Given the description of an element on the screen output the (x, y) to click on. 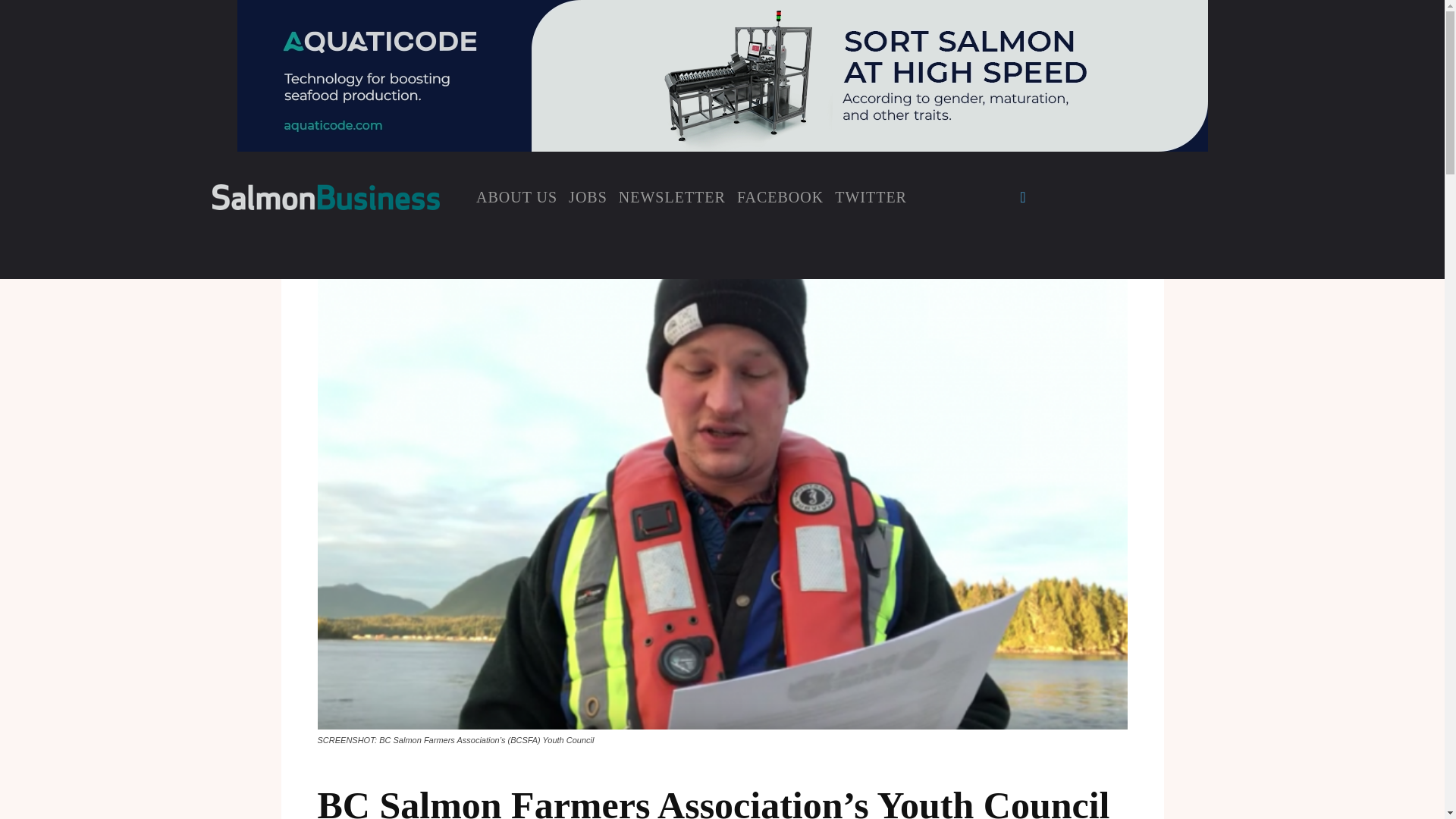
NEWSLETTER (671, 196)
FACEBOOK (780, 196)
ABOUT US (516, 196)
